Given the description of an element on the screen output the (x, y) to click on. 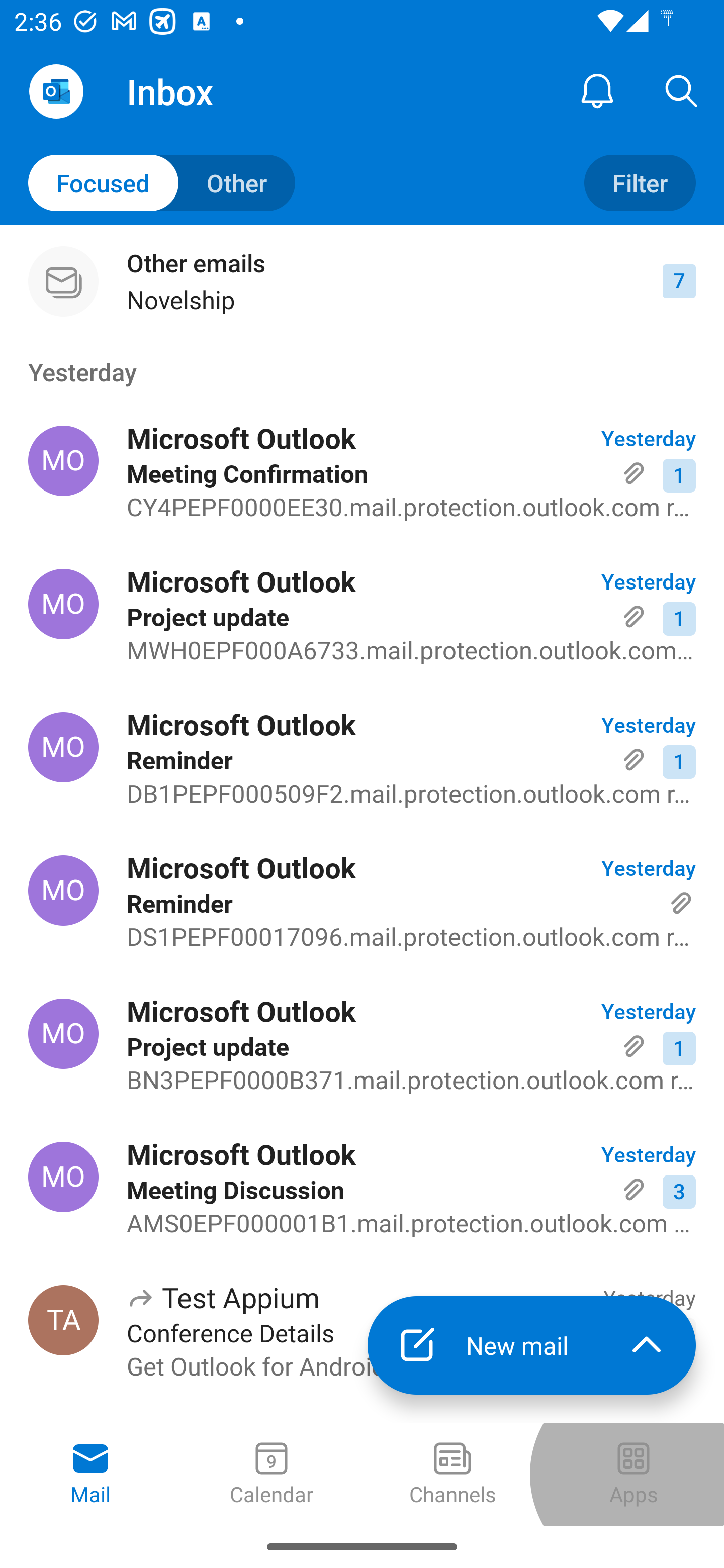
Notification Center (597, 90)
Search, ,  (681, 90)
Open Navigation Drawer (55, 91)
Toggle to other mails (161, 183)
Filter (639, 183)
Other emails Novelship 7 (362, 281)
Test Appium, testappium002@outlook.com (63, 1319)
New mail (481, 1344)
launch the extended action menu (646, 1344)
Calendar (271, 1474)
Channels (452, 1474)
Apps (633, 1474)
